Given the description of an element on the screen output the (x, y) to click on. 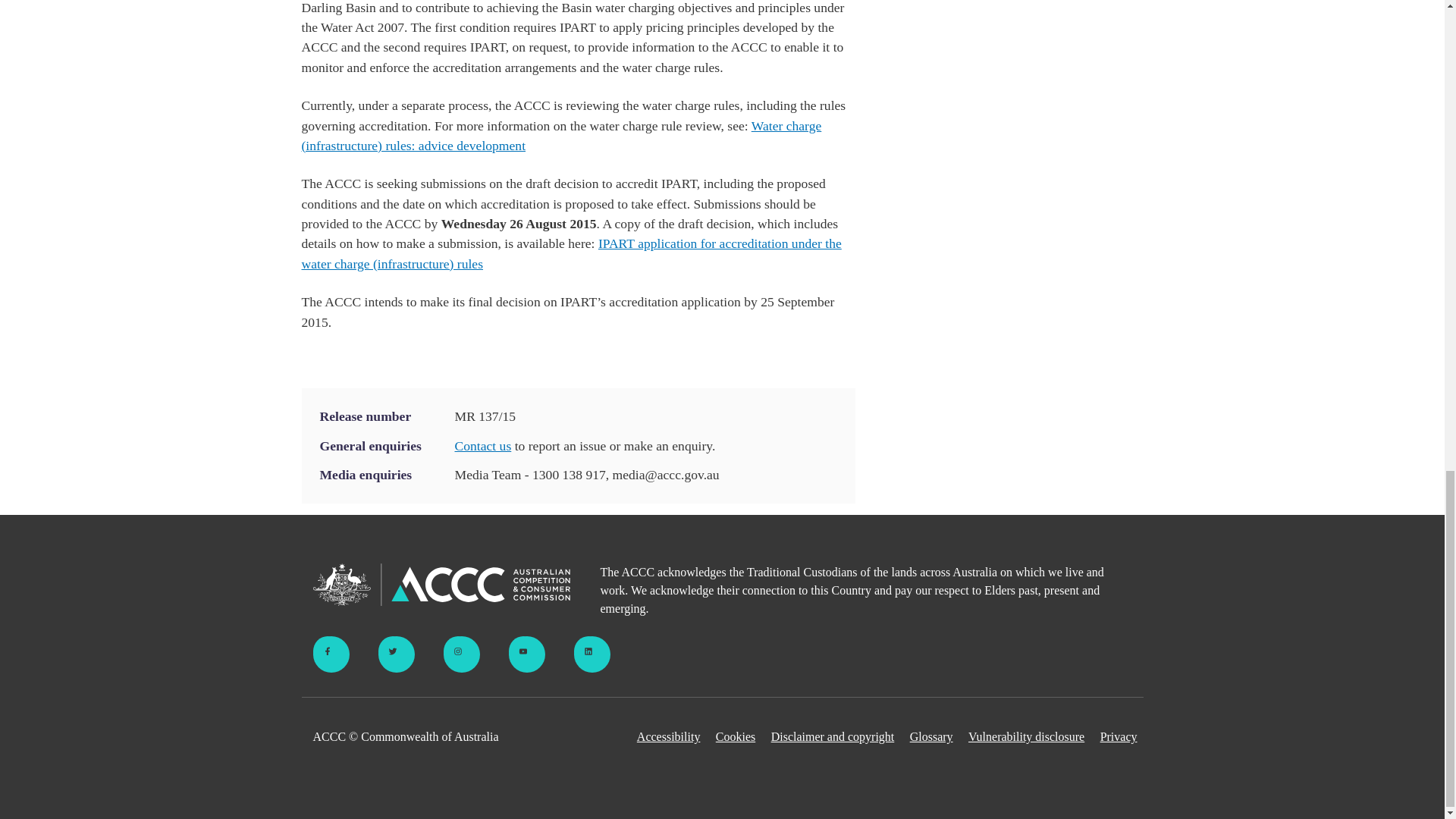
Cookies and website analytics (735, 737)
